Given the description of an element on the screen output the (x, y) to click on. 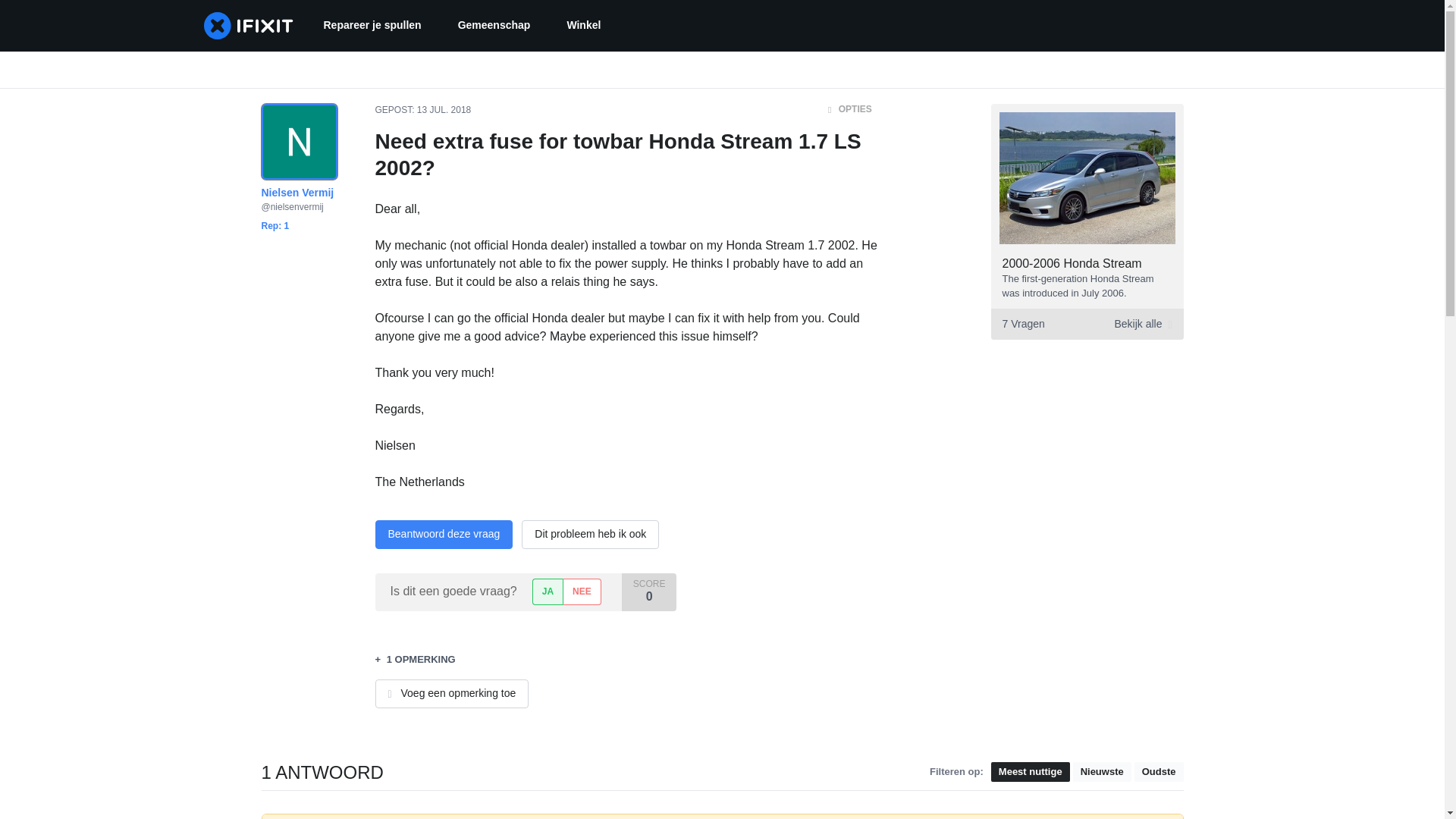
JA (547, 591)
Winkel (583, 25)
Fri, 13 Jul 2018 11:18:15 -0700 (443, 109)
GEPOST: 13 JUL. 2018 (422, 109)
2000-2006 Honda Stream (1072, 263)
Repareer je spullen (371, 25)
Meest nuttige (1030, 772)
Beantwoord deze vraag (443, 534)
Oudste (1086, 323)
Dit probleem heb ik ook (1158, 772)
NEE (590, 534)
Nieuwste (581, 591)
Gemeenschap (1102, 772)
Voeg een opmerking toe (493, 25)
